Given the description of an element on the screen output the (x, y) to click on. 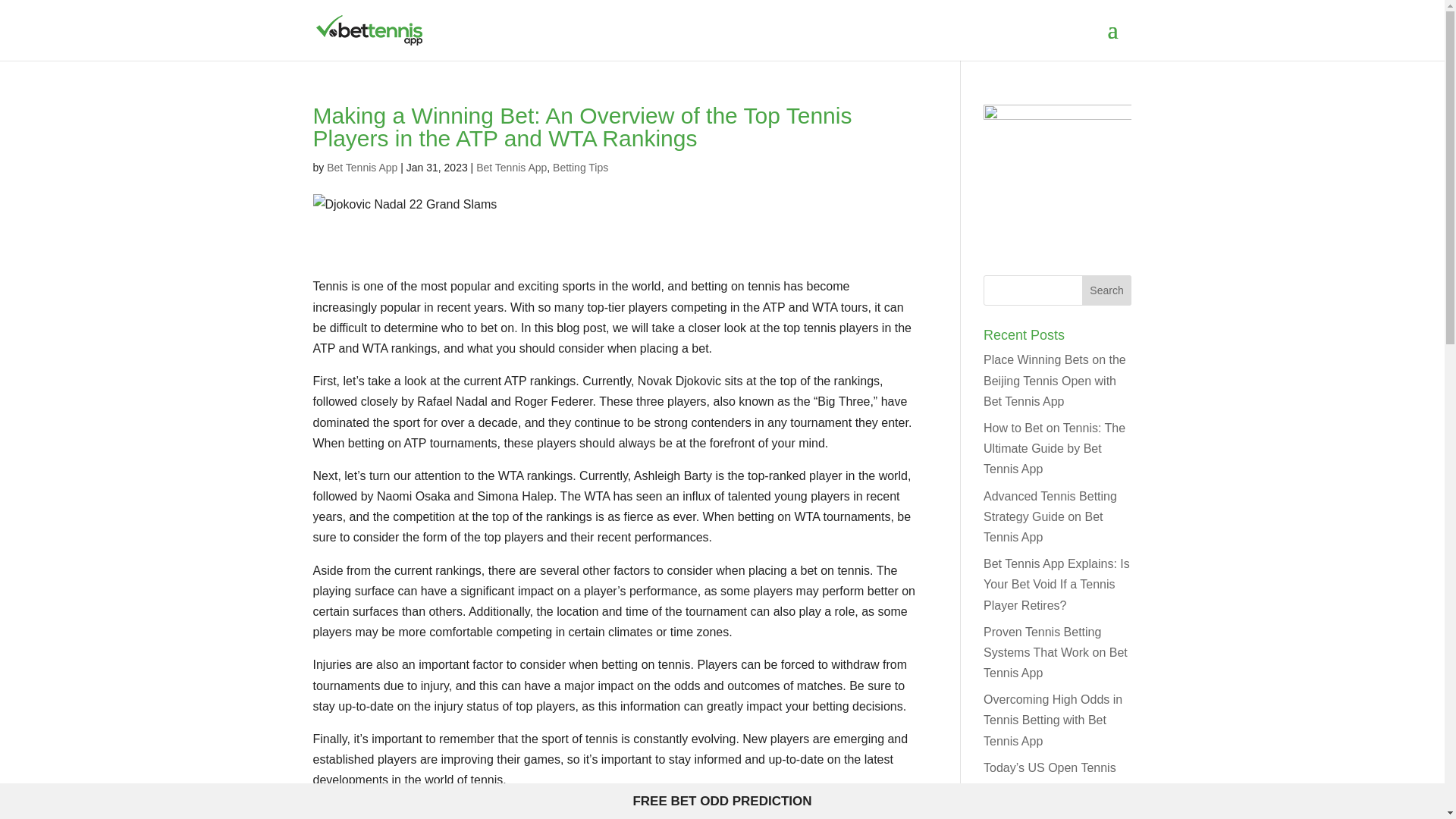
Advanced Tennis Betting Strategy Guide on Bet Tennis App (1050, 516)
Bet Tennis App (361, 167)
Search (1106, 290)
Bet Tennis App (511, 167)
Proven Tennis Betting Systems That Work on Bet Tennis App (1055, 652)
Overcoming High Odds in Tennis Betting with Bet Tennis App (1053, 719)
Posts by Bet Tennis App (361, 167)
Search (1106, 290)
